Given the description of an element on the screen output the (x, y) to click on. 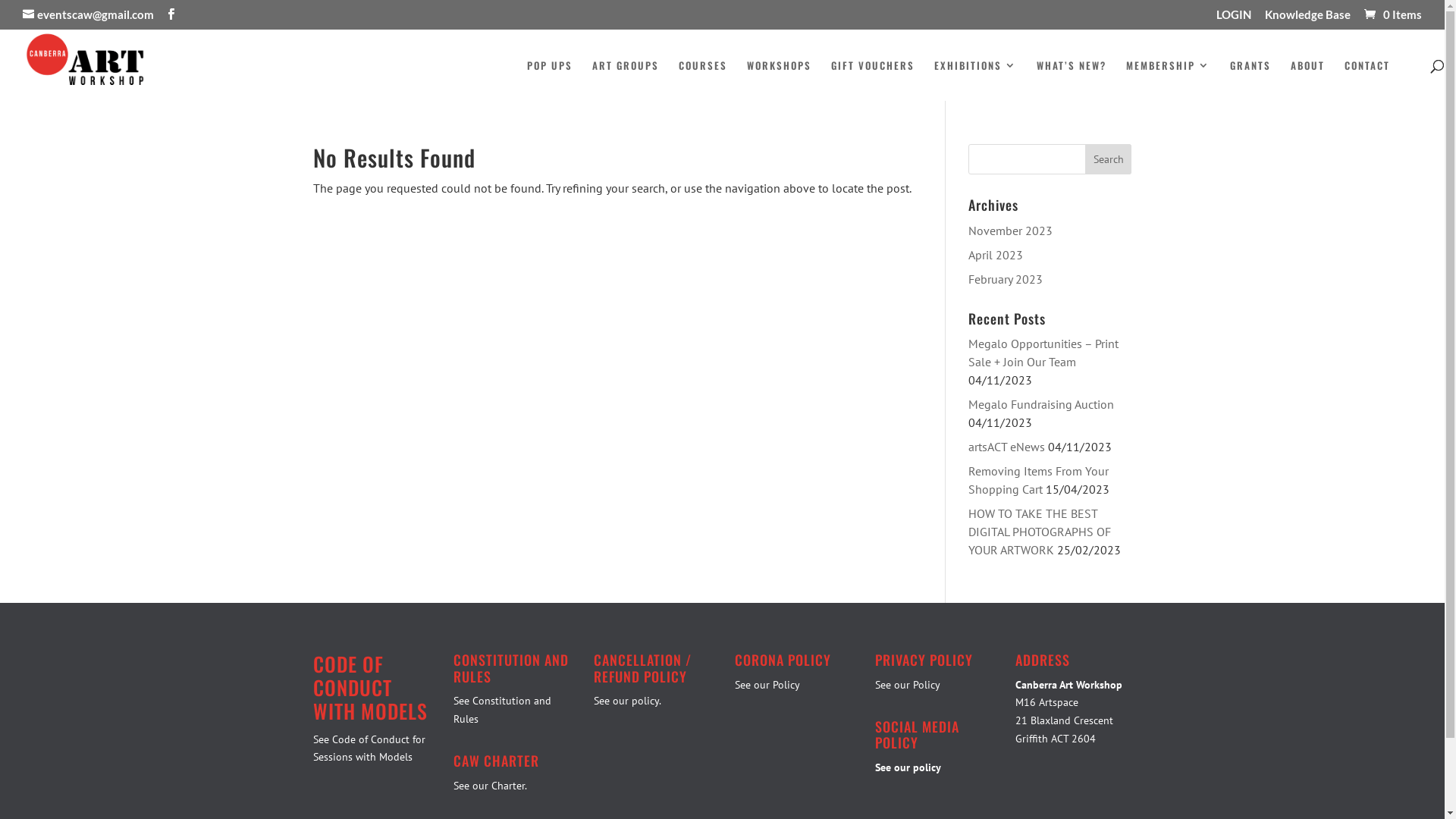
0 Items Element type: text (1391, 14)
See our Policy Element type: text (907, 684)
Constitution and Rules Element type: text (502, 709)
February 2023 Element type: text (1005, 278)
November 2023 Element type: text (1010, 230)
Megalo Fundraising Auction Element type: text (1040, 403)
GRANTS Element type: text (1250, 79)
MEMBERSHIP Element type: text (1168, 79)
LOGIN Element type: text (1233, 18)
April 2023 Element type: text (995, 254)
See our Policy Element type: text (767, 684)
WORKSHOPS Element type: text (778, 79)
ABOUT Element type: text (1307, 79)
CONTACT Element type: text (1367, 79)
See our policy. Element type: text (627, 700)
POP UPS Element type: text (549, 79)
EXHIBITIONS Element type: text (975, 79)
Search Element type: text (1108, 159)
artsACT eNews Element type: text (1006, 446)
ART GROUPS Element type: text (625, 79)
COURSES Element type: text (702, 79)
Knowledge Base Element type: text (1307, 18)
See our Charter. Element type: text (490, 785)
See our policy Element type: text (908, 767)
eventscaw@gmail.com Element type: text (87, 14)
HOW TO TAKE THE BEST DIGITAL PHOTOGRAPHS OF YOUR ARTWORK Element type: text (1039, 531)
Code of Conduct for Sessions with Models Element type: text (368, 748)
GIFT VOUCHERS Element type: text (872, 79)
Removing Items From Your Shopping Cart Element type: text (1038, 479)
